Given the description of an element on the screen output the (x, y) to click on. 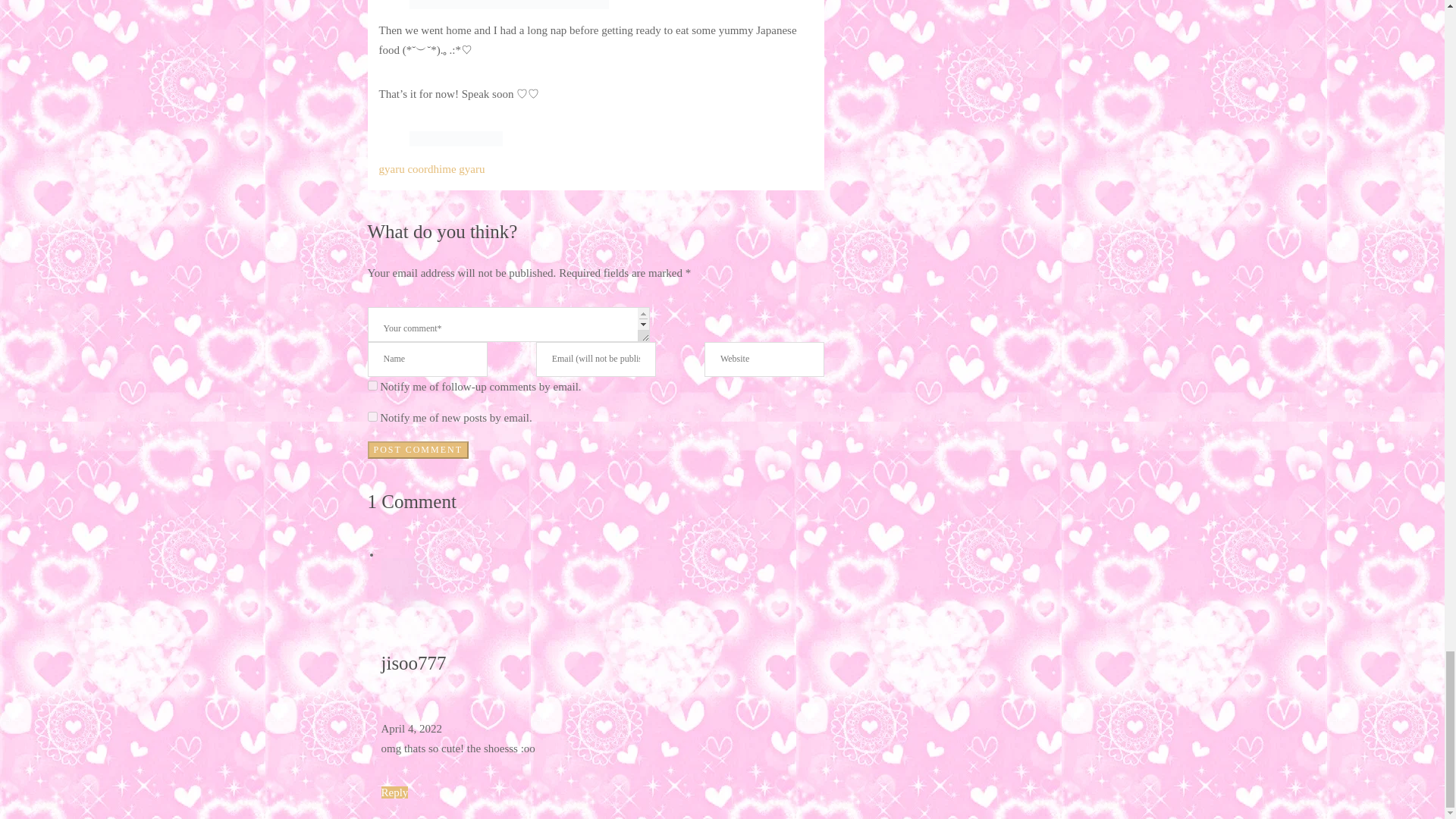
subscribe (371, 385)
Post comment (416, 449)
gyaru coord (405, 168)
hime gyaru (458, 168)
subscribe (371, 416)
